Given the description of an element on the screen output the (x, y) to click on. 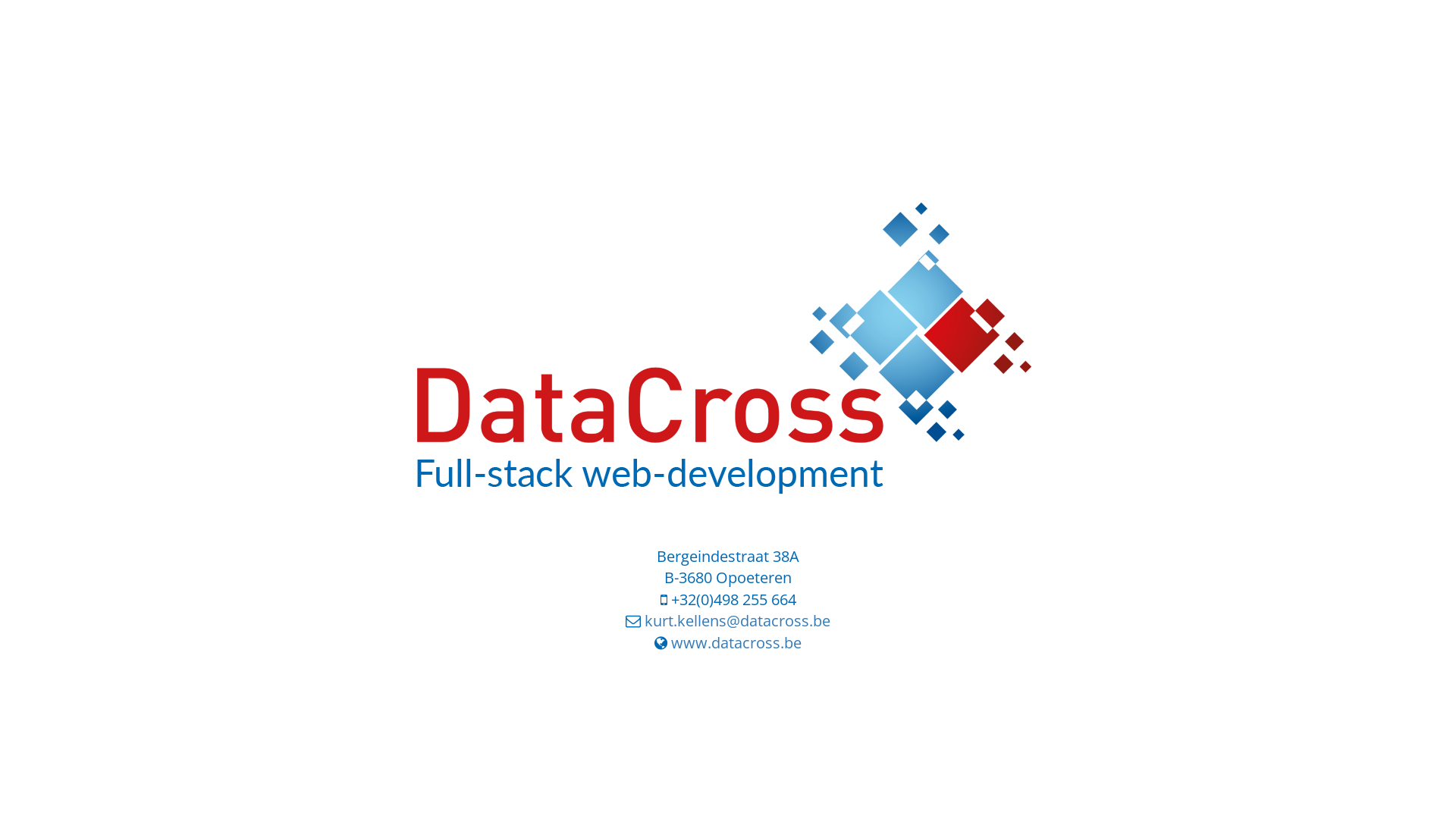
kurt.kellens@datacross.be Element type: text (737, 620)
www.datacross.be Element type: text (736, 642)
